Given the description of an element on the screen output the (x, y) to click on. 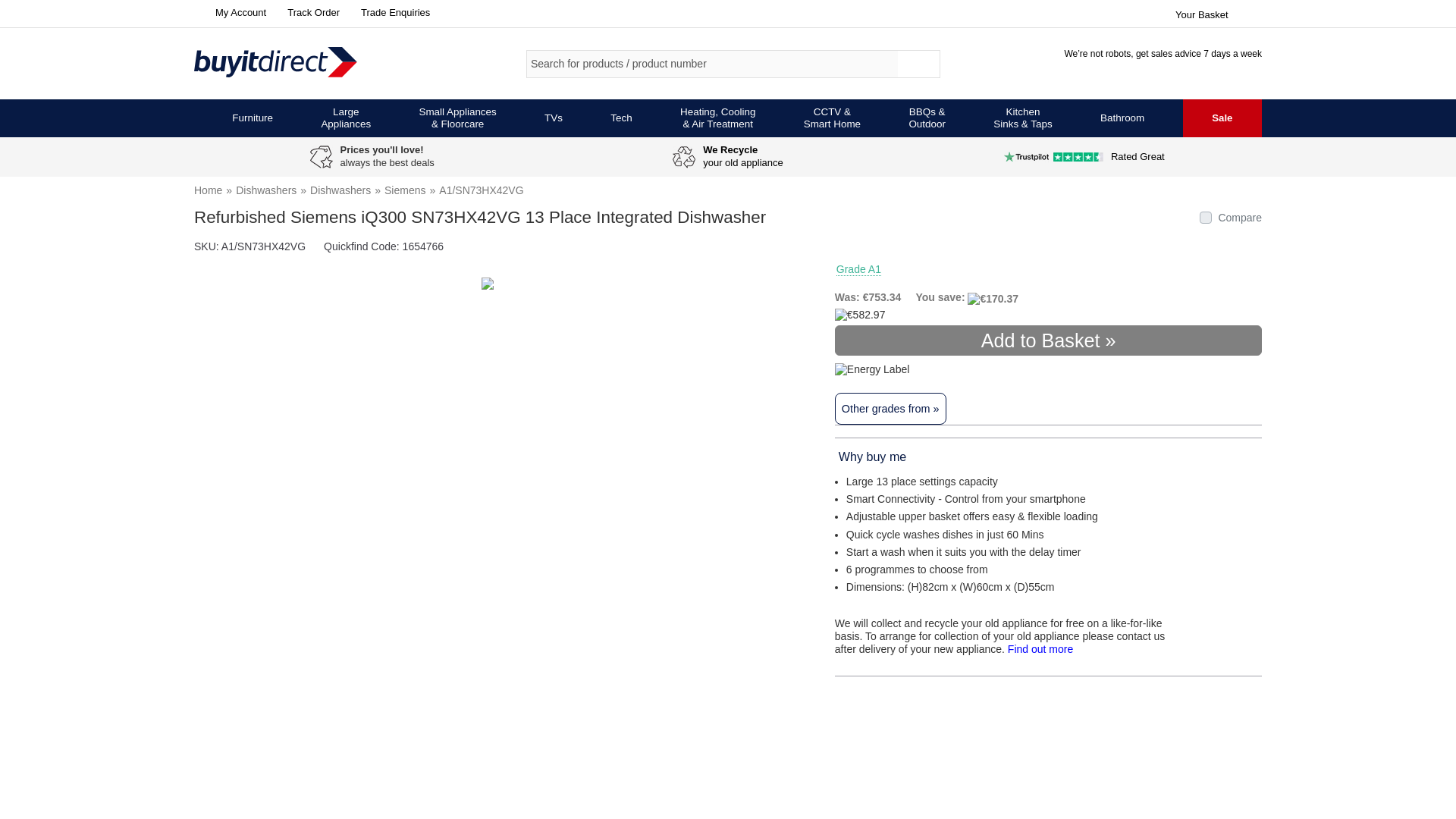
Trade Enquiries (392, 12)
Track Order (310, 12)
My Account (229, 12)
But it Direct Order Tracking (310, 12)
Furniture (252, 118)
Trade Enquiries (392, 12)
Search (919, 63)
Buy it Direct (300, 63)
Your basket contains (1218, 12)
